Given the description of an element on the screen output the (x, y) to click on. 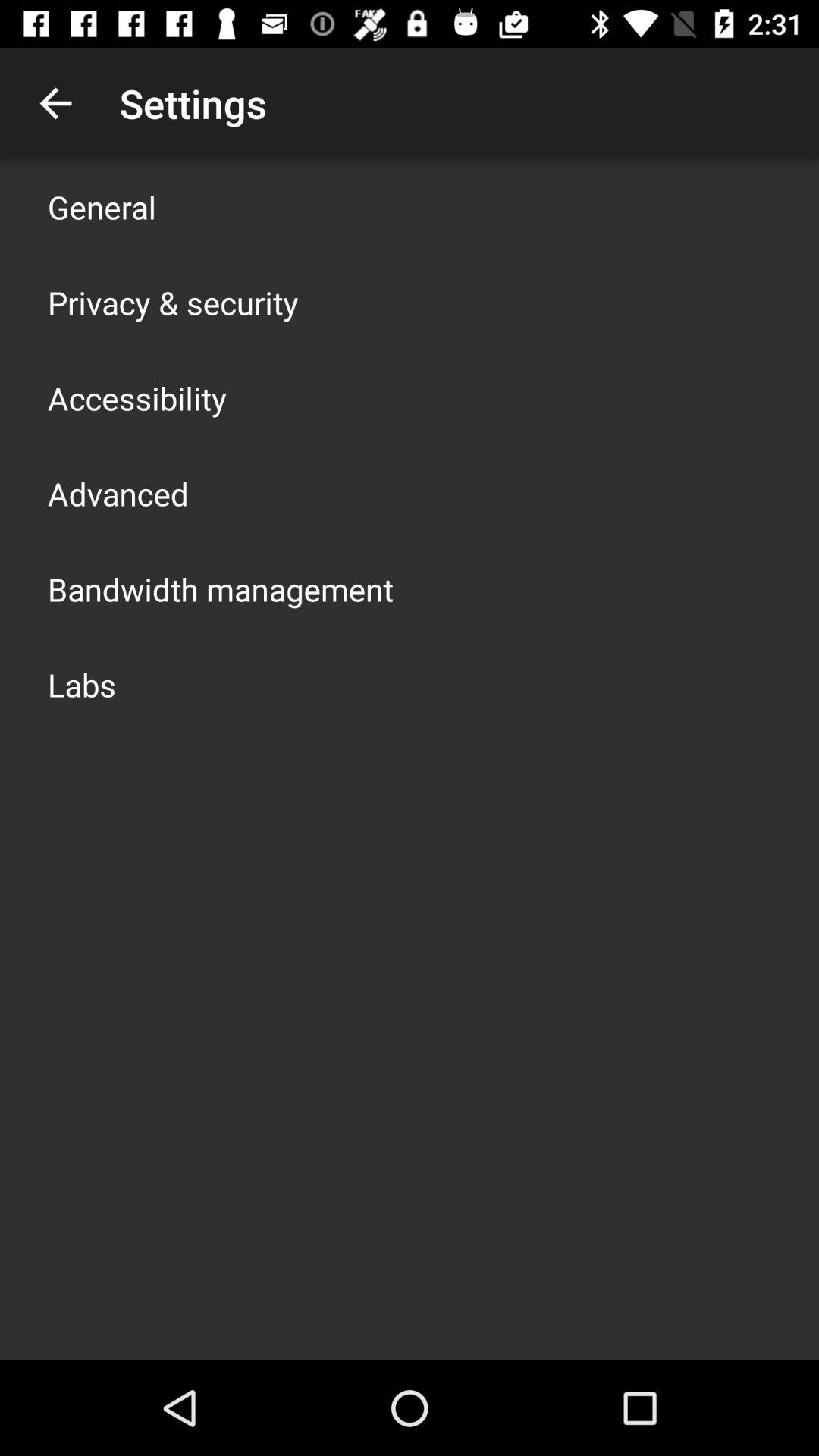
tap the advanced item (117, 493)
